Given the description of an element on the screen output the (x, y) to click on. 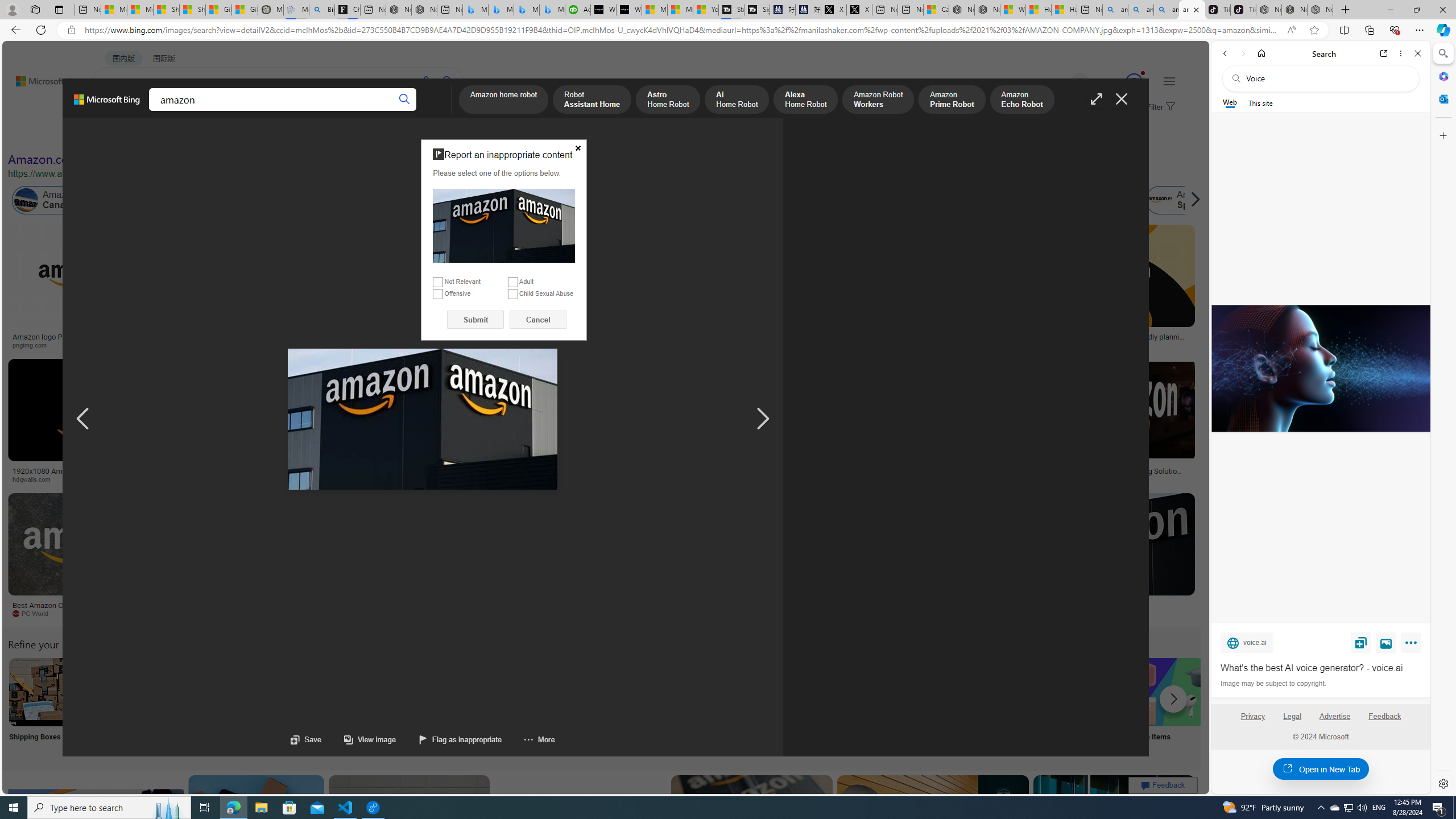
Amazon Logo (PNG e SVG) Download Vetorial Transparente (783, 340)
Close image (1121, 99)
Invisible focusable element for fixing accessibility issue (425, 142)
Amazon.com. Spend less. Smile more. (110, 158)
vecteezy.com (908, 479)
Amazon Prime Label Prime Label (1018, 706)
Flag as inappropriate (460, 739)
Amazon Jobs Near Me (342, 691)
Amazon Sale Items (1169, 691)
Filter (1158, 107)
Echo Dot 4th Gen (673, 264)
Amazon Animals (401, 200)
downdetector.ae (937, 344)
Amazon Prime Robot (951, 100)
